Given the description of an element on the screen output the (x, y) to click on. 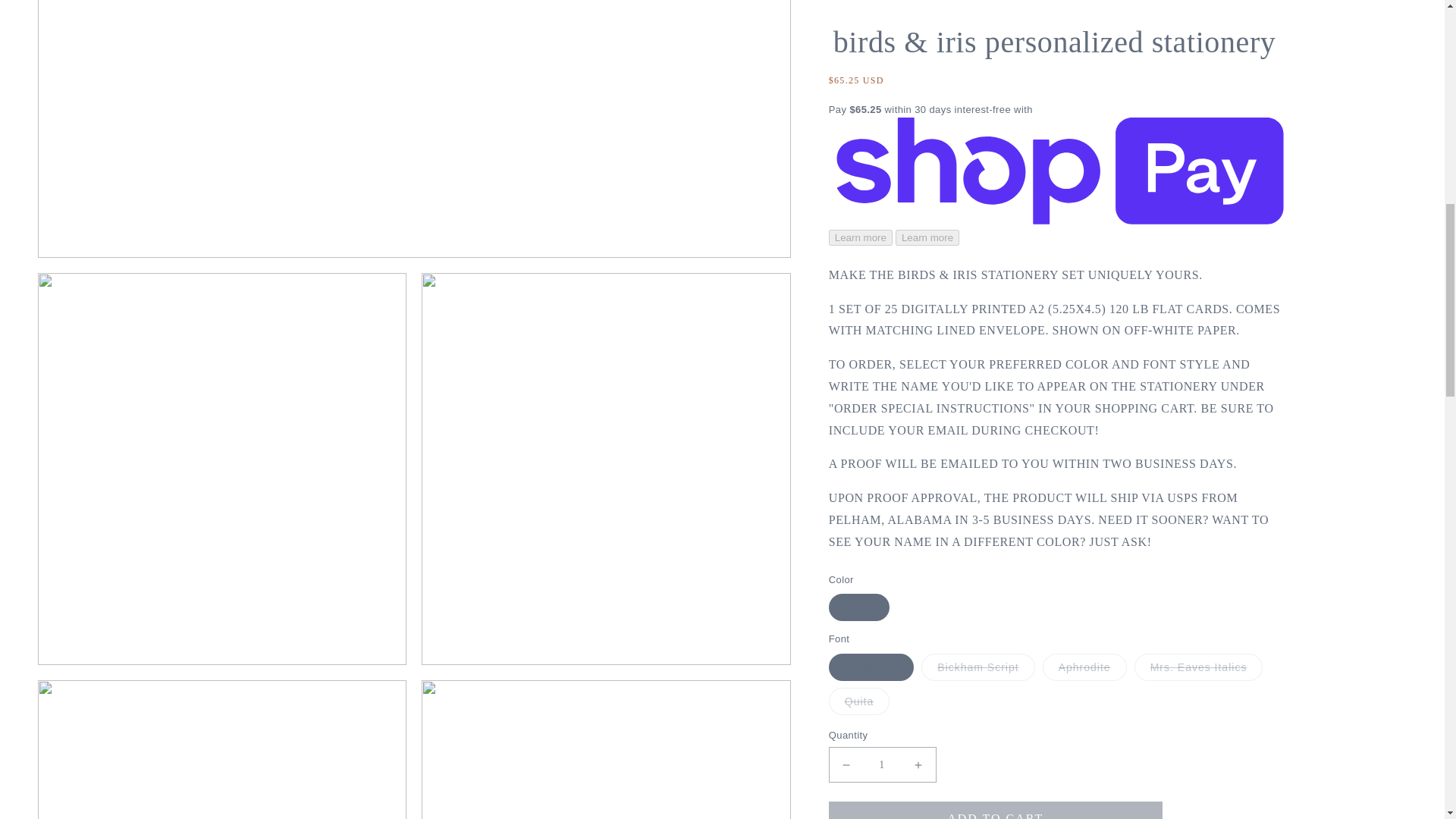
1 (882, 199)
